Given the description of an element on the screen output the (x, y) to click on. 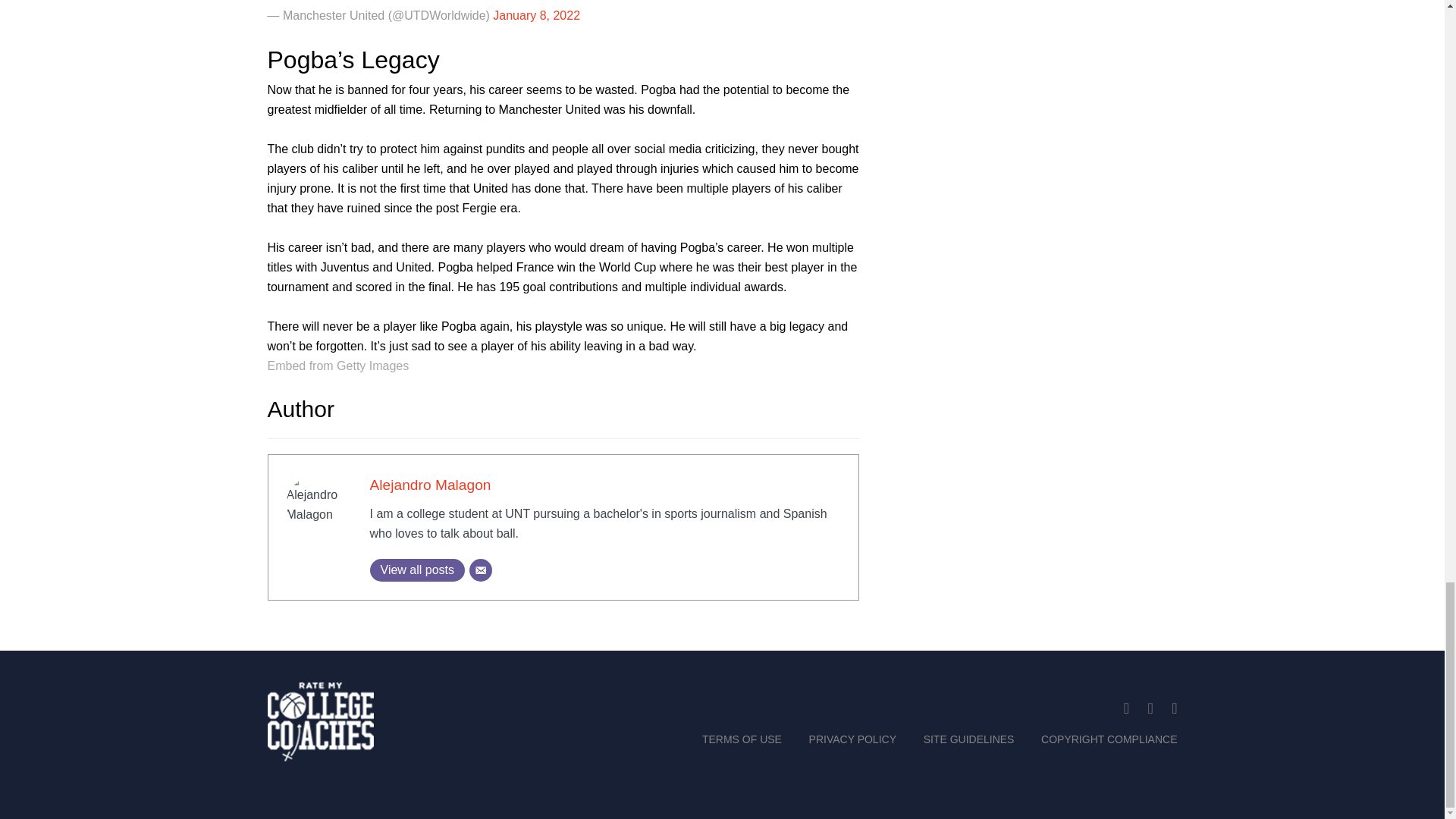
Embed from Getty Images (337, 365)
Alejandro Malagon (430, 484)
View all posts (417, 569)
View all posts (417, 569)
Alejandro Malagon (430, 484)
January 8, 2022 (536, 15)
